Given the description of an element on the screen output the (x, y) to click on. 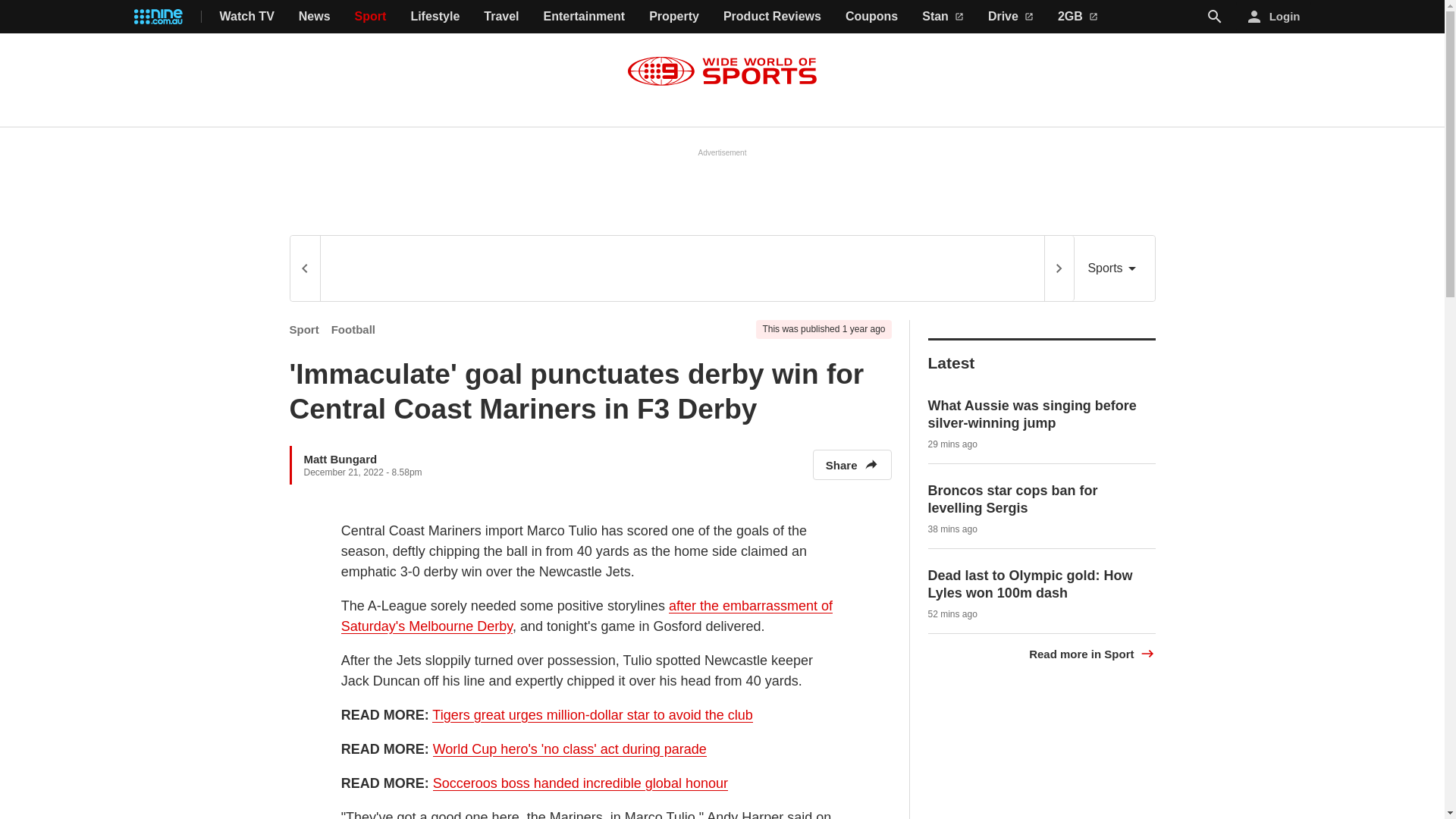
Stan (942, 16)
Socceroos boss handed incredible global honour (580, 783)
after the embarrassment of Saturday's Melbourne Derby (586, 616)
Football (353, 328)
Share (851, 464)
Coupons (871, 16)
Matt Bungard (339, 458)
Travel (500, 16)
Sport (371, 16)
Search (1214, 16)
Sports (1114, 268)
Drive (1010, 16)
News (314, 16)
Sport (303, 328)
Watch TV (247, 16)
